Given the description of an element on the screen output the (x, y) to click on. 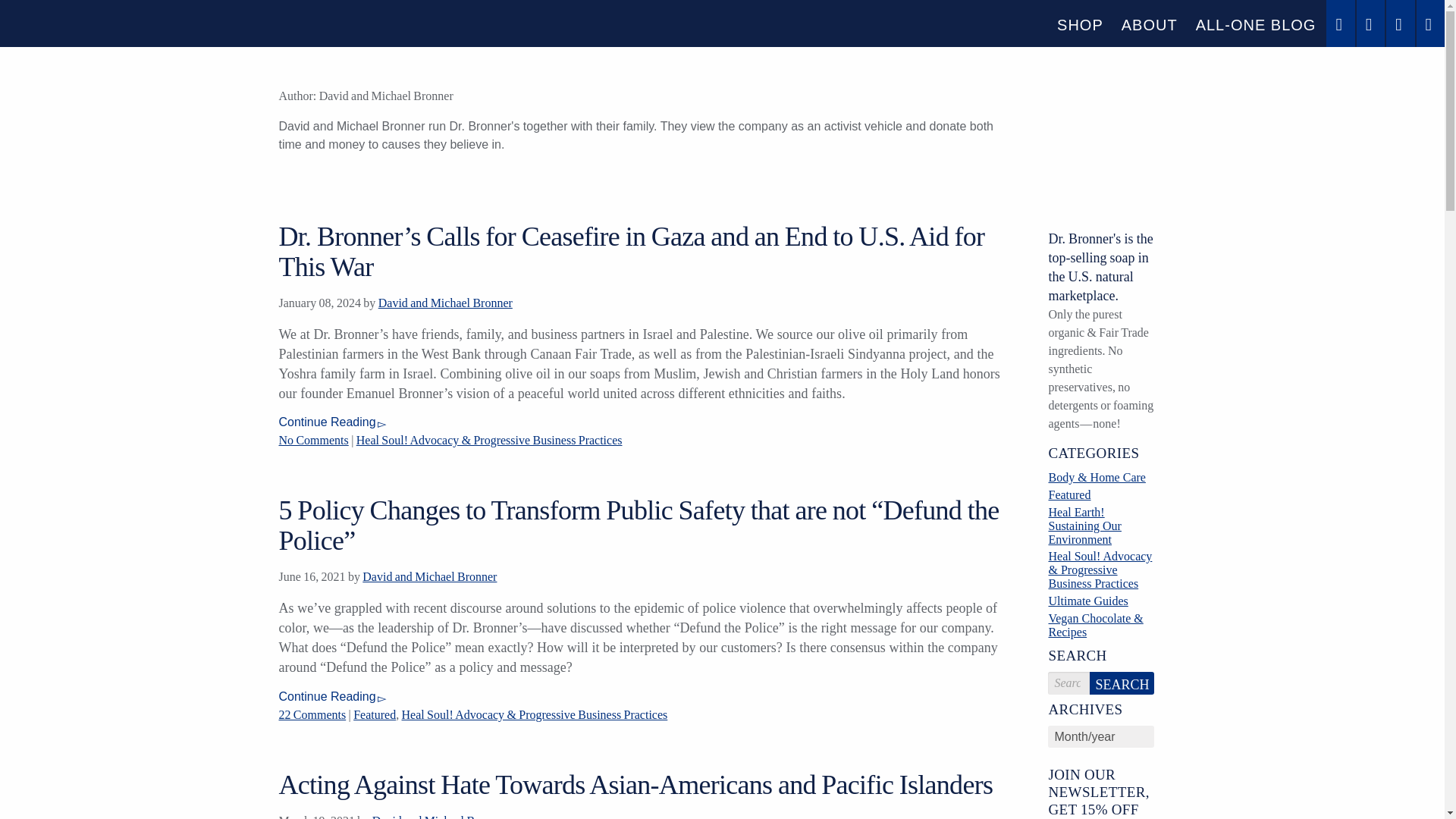
Continue Reading (332, 421)
ABOUT (1149, 23)
No Comments (314, 440)
SHOP (1080, 23)
Posts by David and Michael Bronner (429, 576)
Search (1121, 682)
Search (1121, 682)
David and Michael Bronner (445, 302)
Posts by David and Michael Bronner (445, 302)
Featured (374, 714)
